Given the description of an element on the screen output the (x, y) to click on. 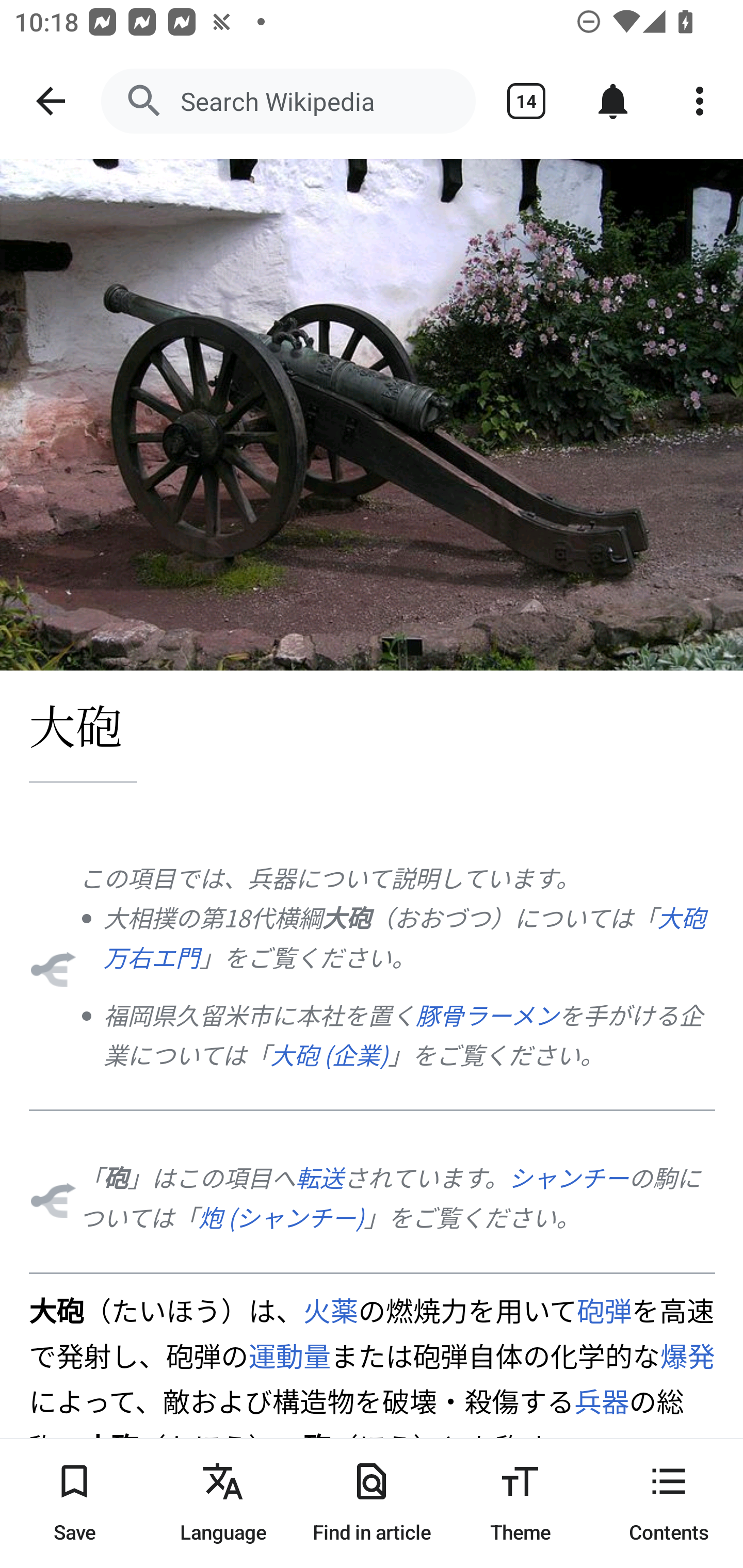
Show tabs 14 (525, 100)
Notifications (612, 100)
Navigate up (50, 101)
More options (699, 101)
Search Wikipedia (288, 100)
Image: 大砲 (371, 414)
大砲万右エ門 (403, 936)
曖昧さ回避 (51, 967)
豚骨ラーメン (487, 1015)
大砲 (企業) (329, 1054)
転送 (319, 1176)
シャンチー (568, 1176)
曖昧さ回避 (51, 1198)
炮 (シャンチー) (280, 1216)
火薬 (329, 1308)
砲弾 (604, 1308)
運動量 (289, 1355)
爆発 (687, 1355)
兵器 (601, 1400)
Save (74, 1502)
Language (222, 1502)
Find in article (371, 1502)
Theme (519, 1502)
Contents (668, 1502)
